Given the description of an element on the screen output the (x, y) to click on. 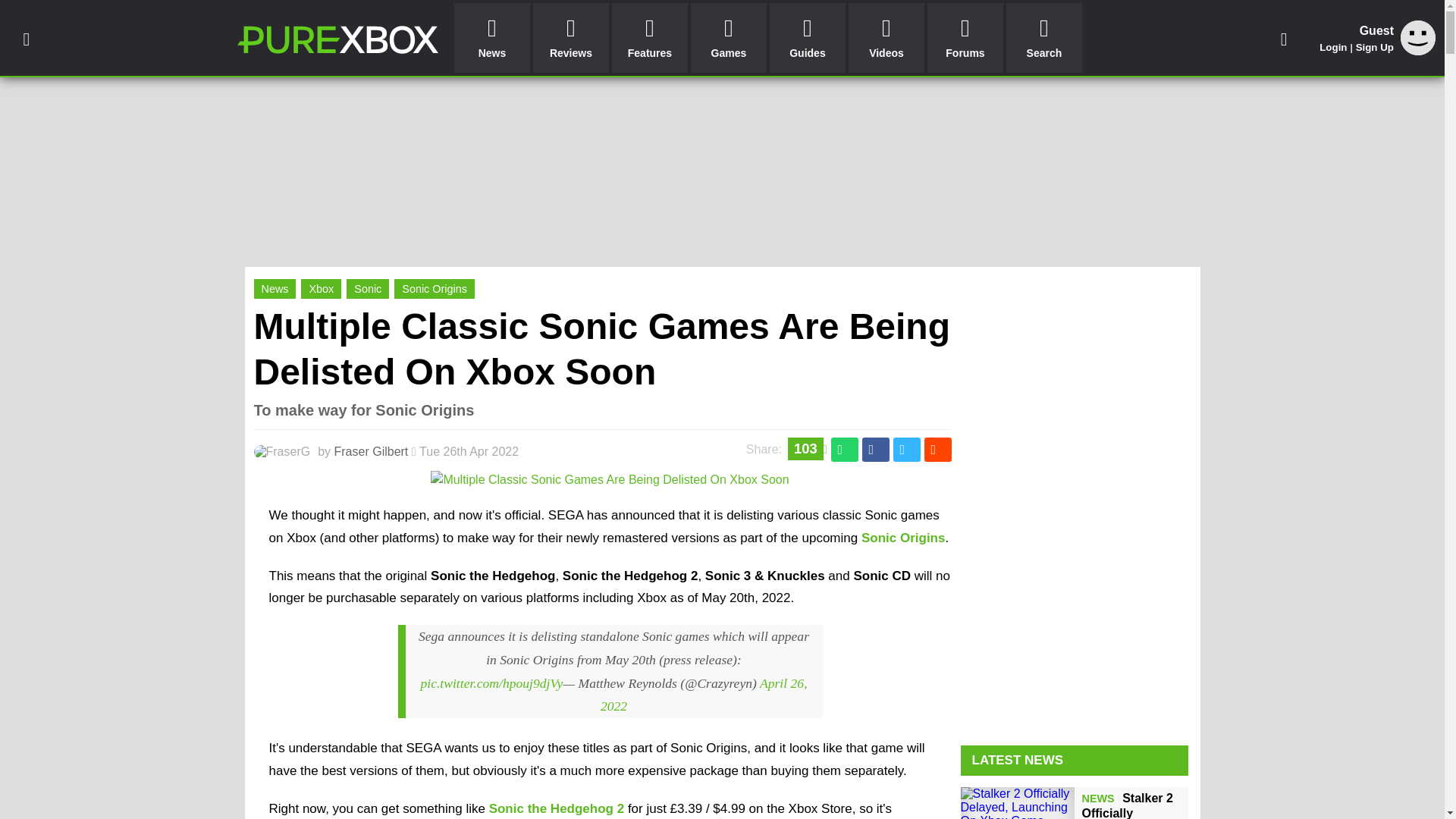
Pure Xbox (336, 39)
Share this on Reddit (936, 449)
Share This Page (1283, 37)
Share this on WhatsApp (845, 449)
News (491, 37)
Share this on Facebook (874, 449)
Fraser Gilbert (371, 451)
Xbox (320, 288)
Forums (965, 37)
Multiple Classic Sonic Games Are Being Delisted On Xbox Soon (609, 479)
Reviews (570, 37)
Sonic Origins (434, 288)
Multiple Classic Sonic Games Are Being Delisted On Xbox Soon (601, 349)
Guest (1417, 51)
Guest (1417, 37)
